Given the description of an element on the screen output the (x, y) to click on. 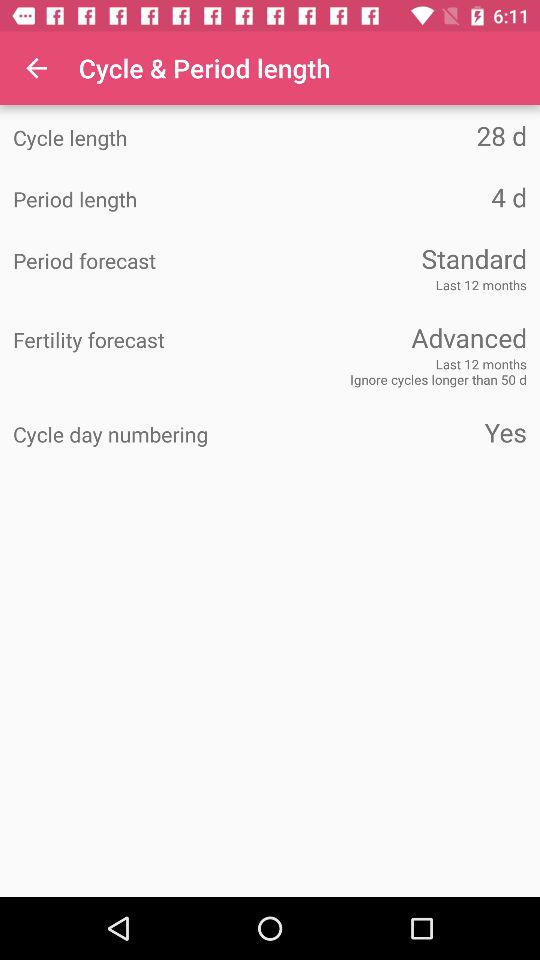
tap 28 d icon (398, 135)
